Given the description of an element on the screen output the (x, y) to click on. 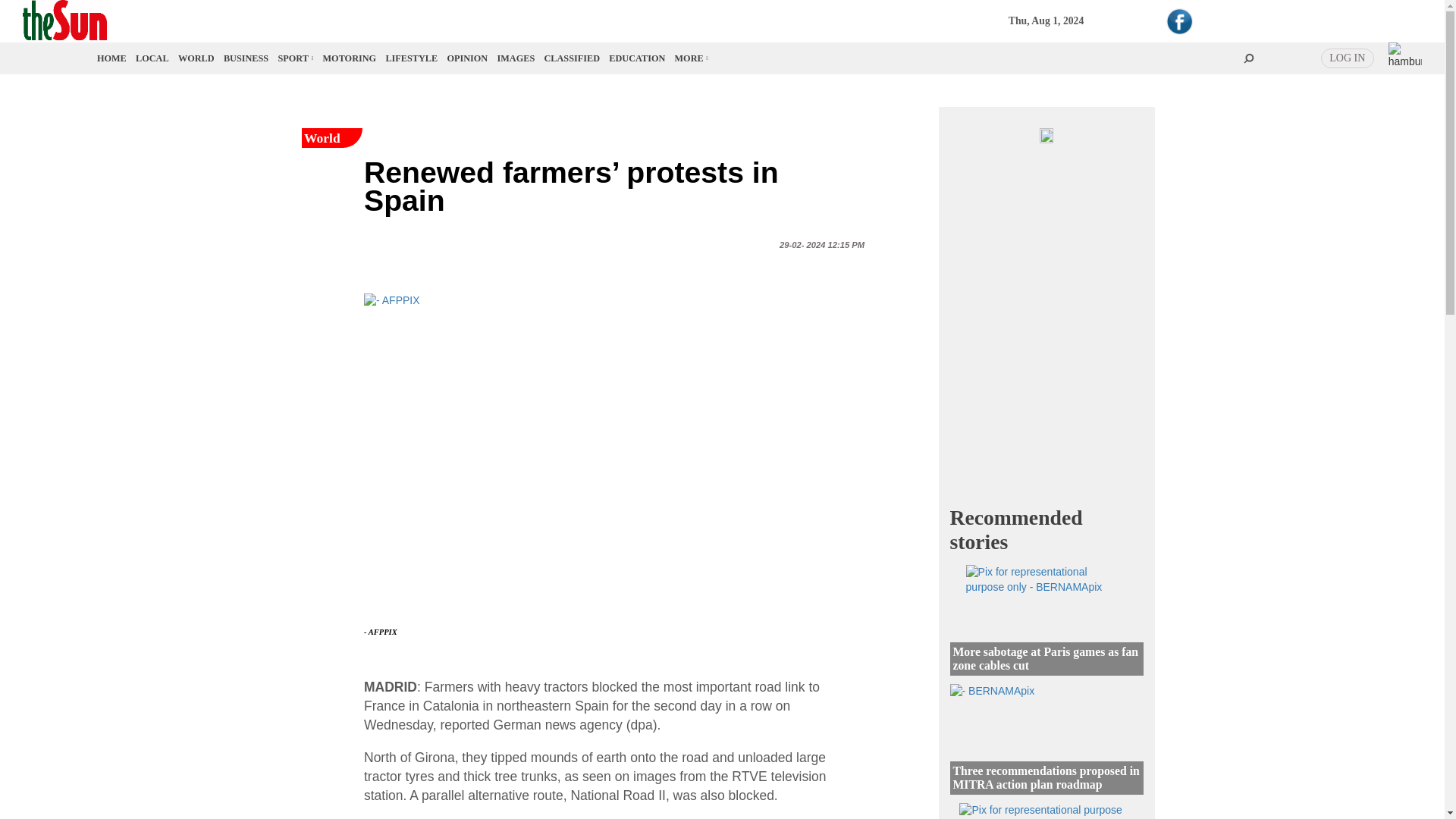
SPORT (294, 57)
Home (111, 57)
LOCAL (151, 57)
HOME (111, 57)
BUSINESS (245, 57)
MOTORING (350, 57)
WORLD (195, 57)
CLASSIFIED (571, 57)
IMAGES (516, 57)
EDUCATION (636, 57)
LOG IN (1347, 57)
LIFESTYLE (411, 57)
OPINION (466, 57)
Local (151, 57)
MORE (690, 57)
